Given the description of an element on the screen output the (x, y) to click on. 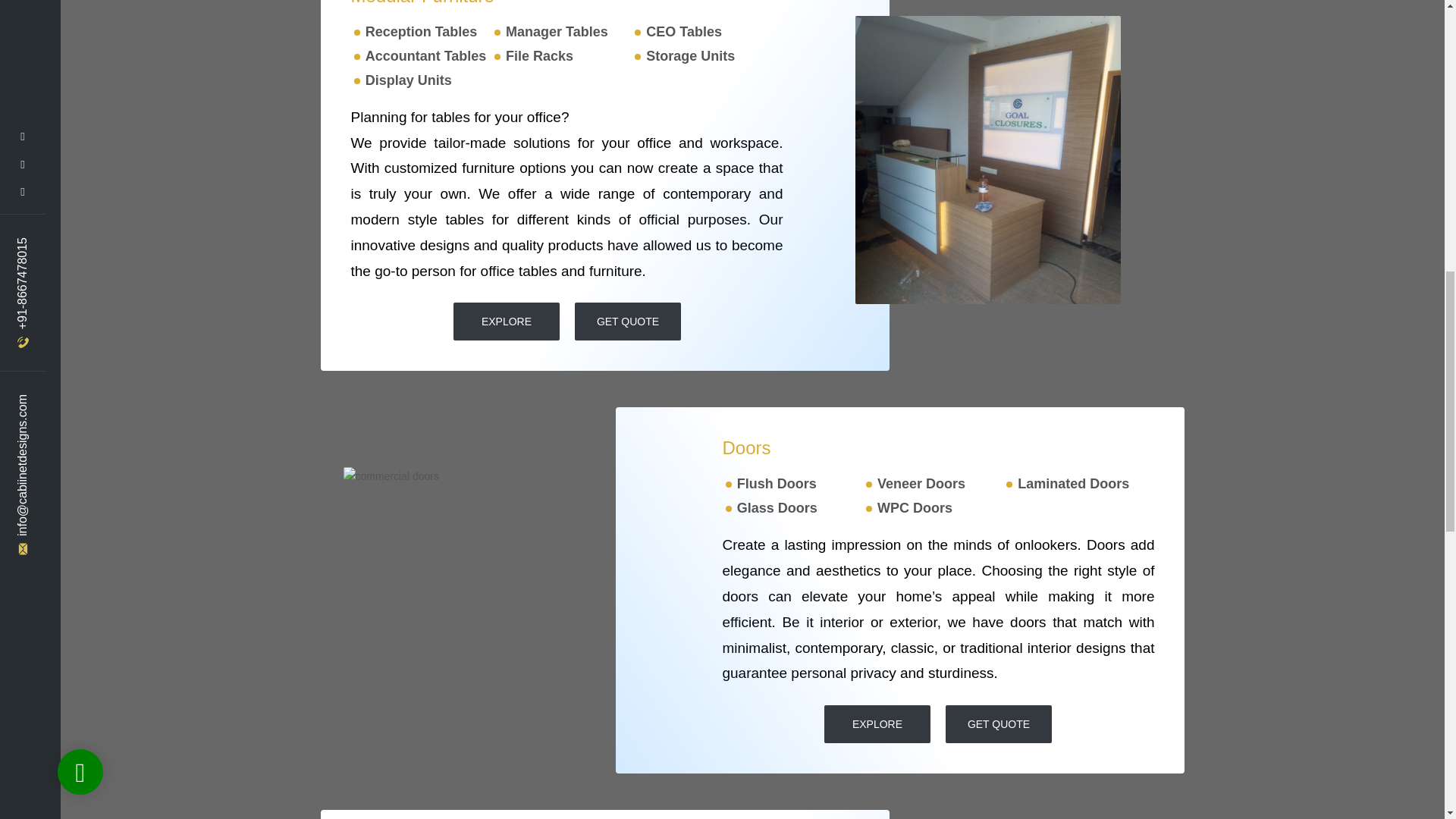
EXPLORE (505, 321)
EXPLORE (877, 723)
Reception Tables (421, 31)
WPC Doors (914, 507)
Accountant Tables (425, 55)
CEO Tables (684, 31)
Manager Tables (556, 31)
Flush Doors (776, 483)
Glass Doors (776, 507)
GET QUOTE (997, 723)
Display Units (408, 79)
Storage Units (690, 55)
File Racks (539, 55)
Laminated Doors (1073, 483)
GET QUOTE (628, 321)
